Given the description of an element on the screen output the (x, y) to click on. 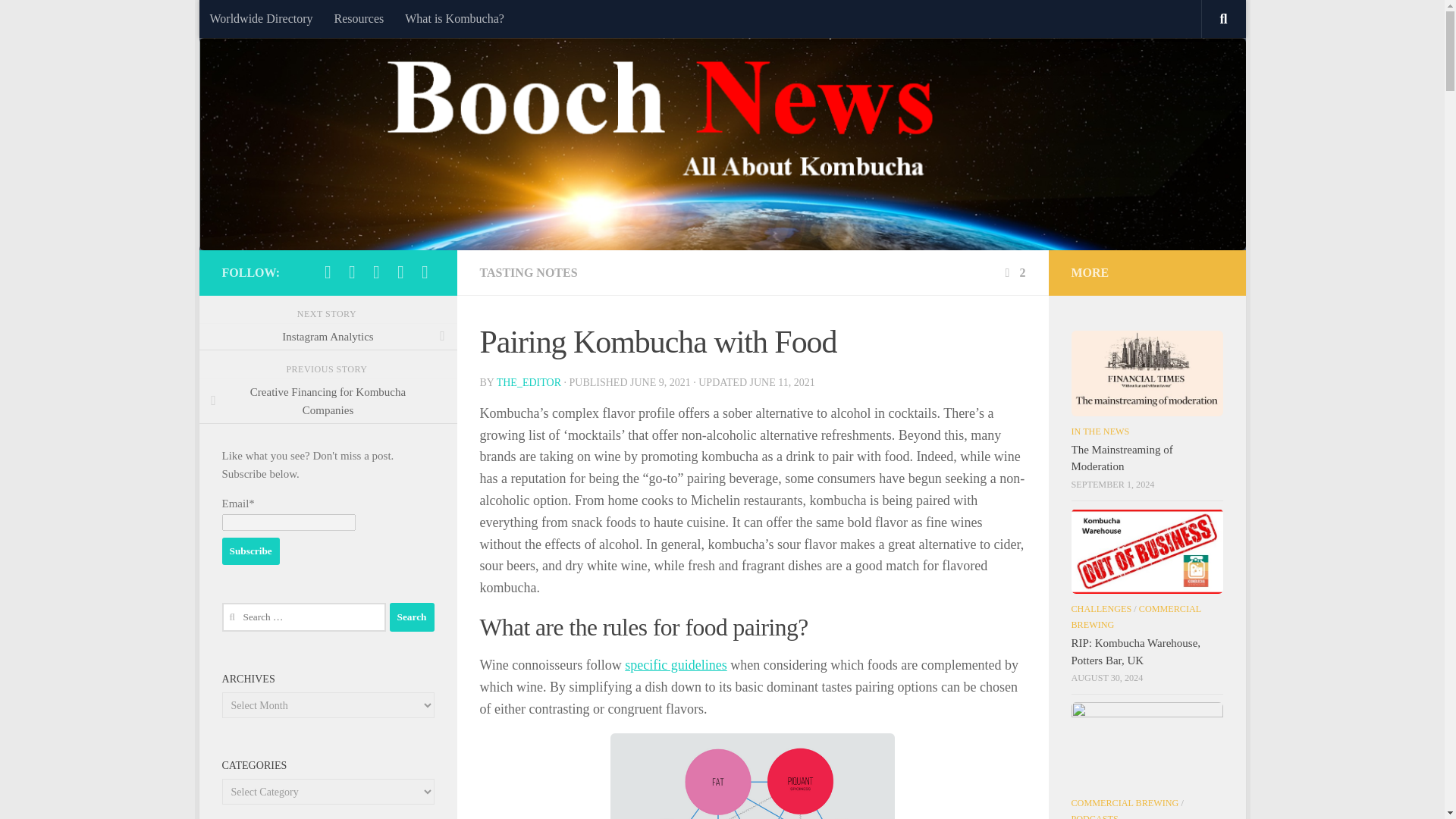
2 (1013, 272)
Search (411, 616)
Follow us on Youtube (423, 271)
Resources (358, 18)
What is Kombucha? (454, 18)
Follow us on Twitter (327, 271)
Follow us on Instagram (400, 271)
Follow us on Pinterest (375, 271)
Subscribe (250, 551)
specific guidelines (675, 664)
